Given the description of an element on the screen output the (x, y) to click on. 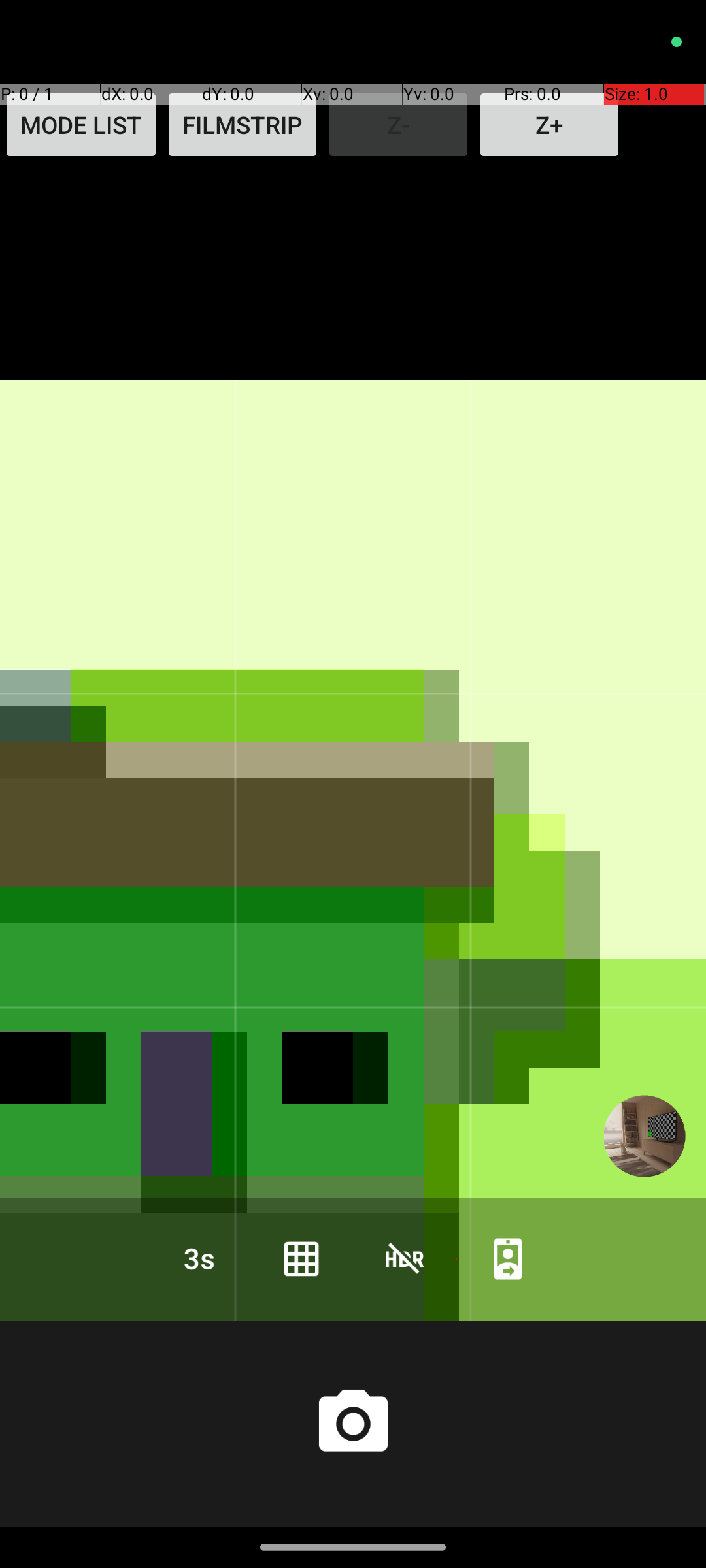
Countdown timer duration is set to 3 seconds Element type: android.widget.ImageButton (197, 1258)
Grid lines on Element type: android.widget.ImageButton (301, 1258)
HDR off Element type: android.widget.ImageButton (404, 1258)
Front camera Element type: android.widget.ImageButton (507, 1258)
